Given the description of an element on the screen output the (x, y) to click on. 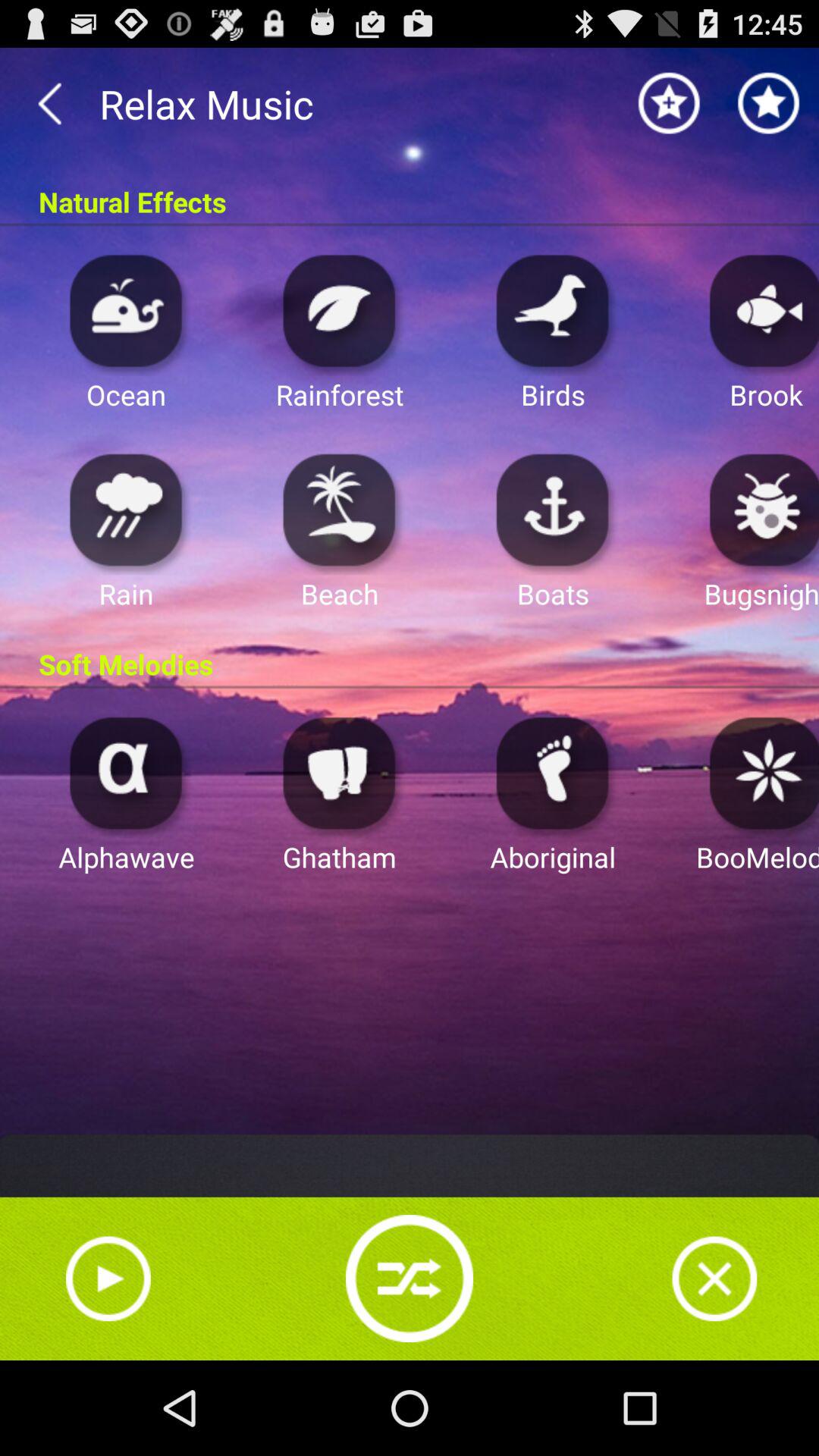
select rain sound (126, 509)
